Given the description of an element on the screen output the (x, y) to click on. 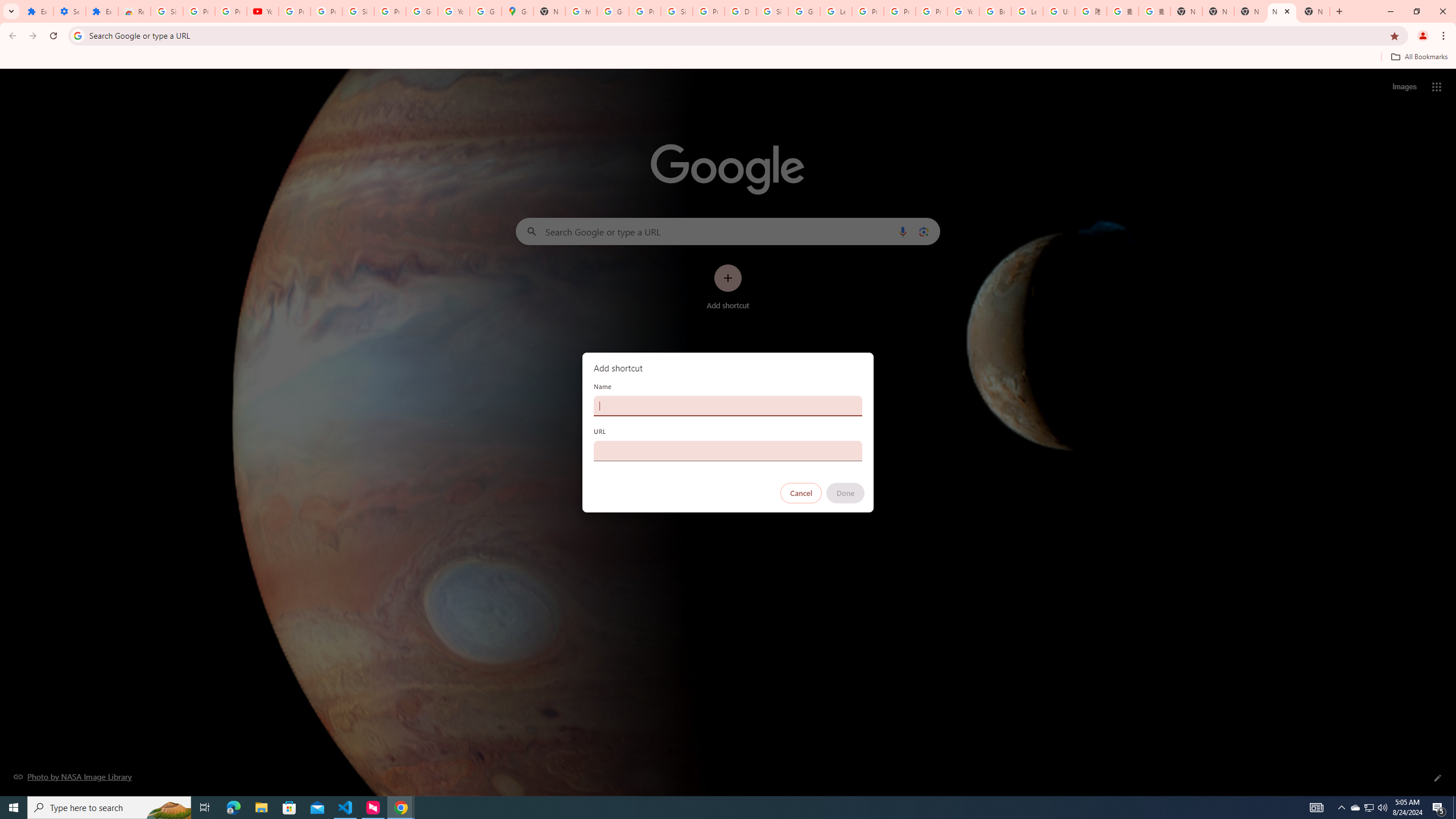
Reviews: Helix Fruit Jump Arcade Game (134, 11)
Privacy Help Center - Policies Help (868, 11)
Search icon (77, 35)
Sign in - Google Accounts (772, 11)
Privacy Help Center - Policies Help (899, 11)
Cancel (801, 493)
Browse Chrome as a guest - Computer - Google Chrome Help (995, 11)
Google Maps (517, 11)
Settings (69, 11)
Delete specific Google services or your Google Account (740, 11)
